Given the description of an element on the screen output the (x, y) to click on. 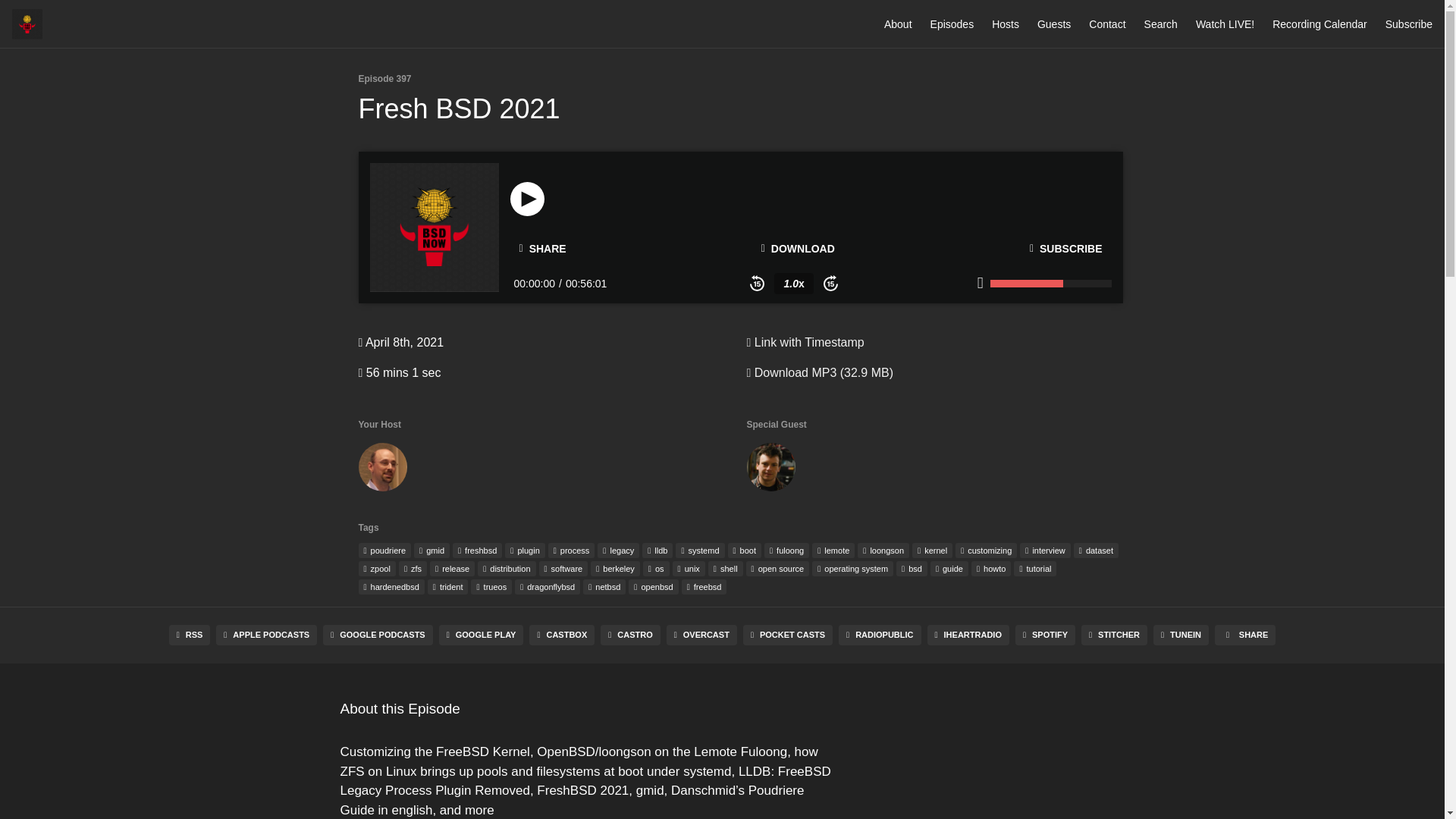
boot (744, 549)
Link with Timestamp (804, 341)
freshbsd (477, 549)
SUBSCRIBE (1066, 248)
lldb (657, 549)
legacy (617, 549)
Hosts (1005, 24)
1.0x (793, 283)
About (897, 24)
SHARE (542, 248)
Episodes (952, 24)
DOWNLOAD (798, 248)
Watch LIVE! (1224, 24)
plugin (524, 549)
poudriere (384, 549)
